Given the description of an element on the screen output the (x, y) to click on. 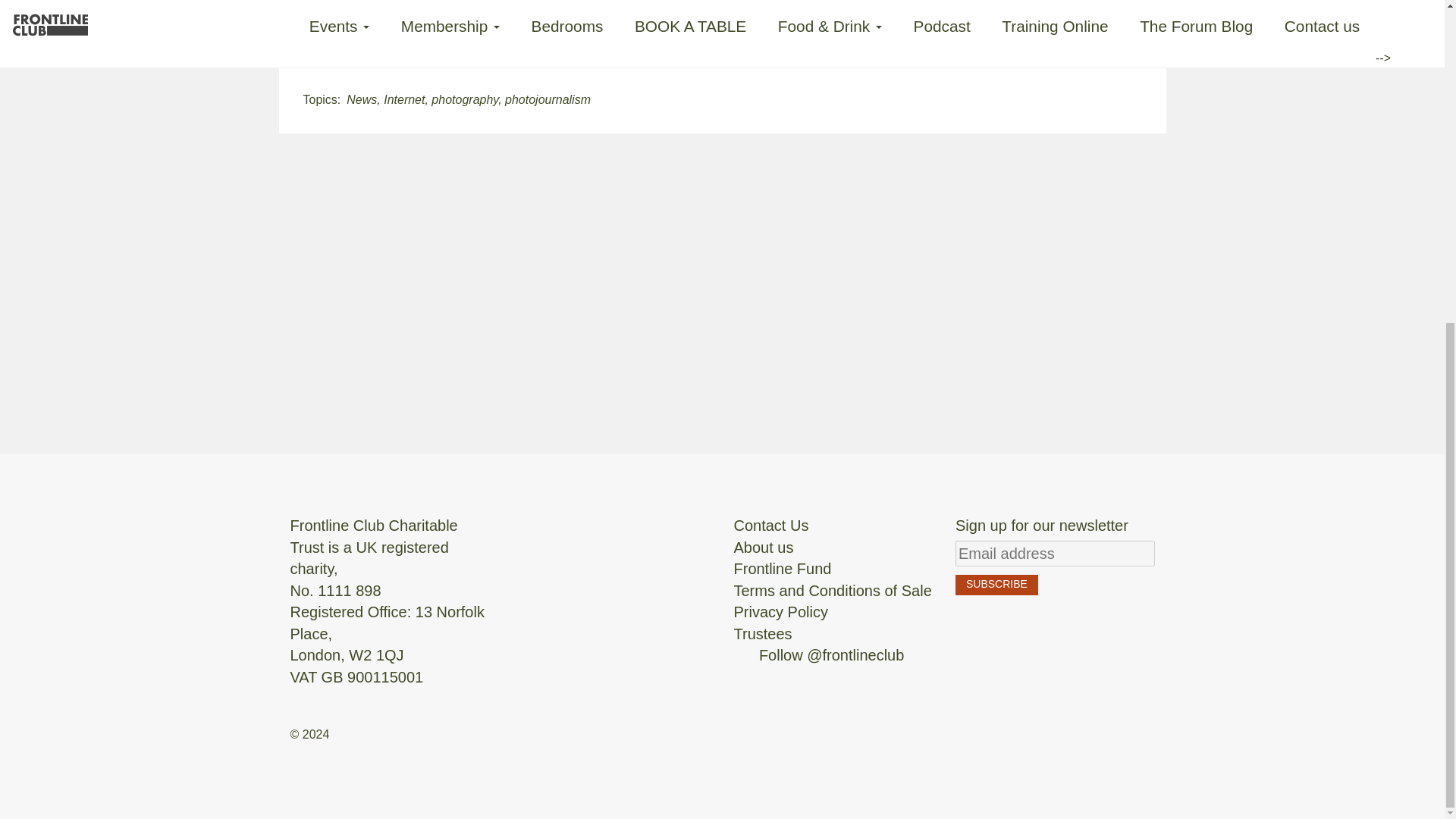
Subscribe (996, 584)
Frontline Fund (782, 568)
photojournalism (548, 99)
photography (463, 99)
Contact Us (771, 524)
Lovelypetal on Flickr (469, 39)
Internet (404, 99)
News (361, 99)
About us (763, 547)
